Given the description of an element on the screen output the (x, y) to click on. 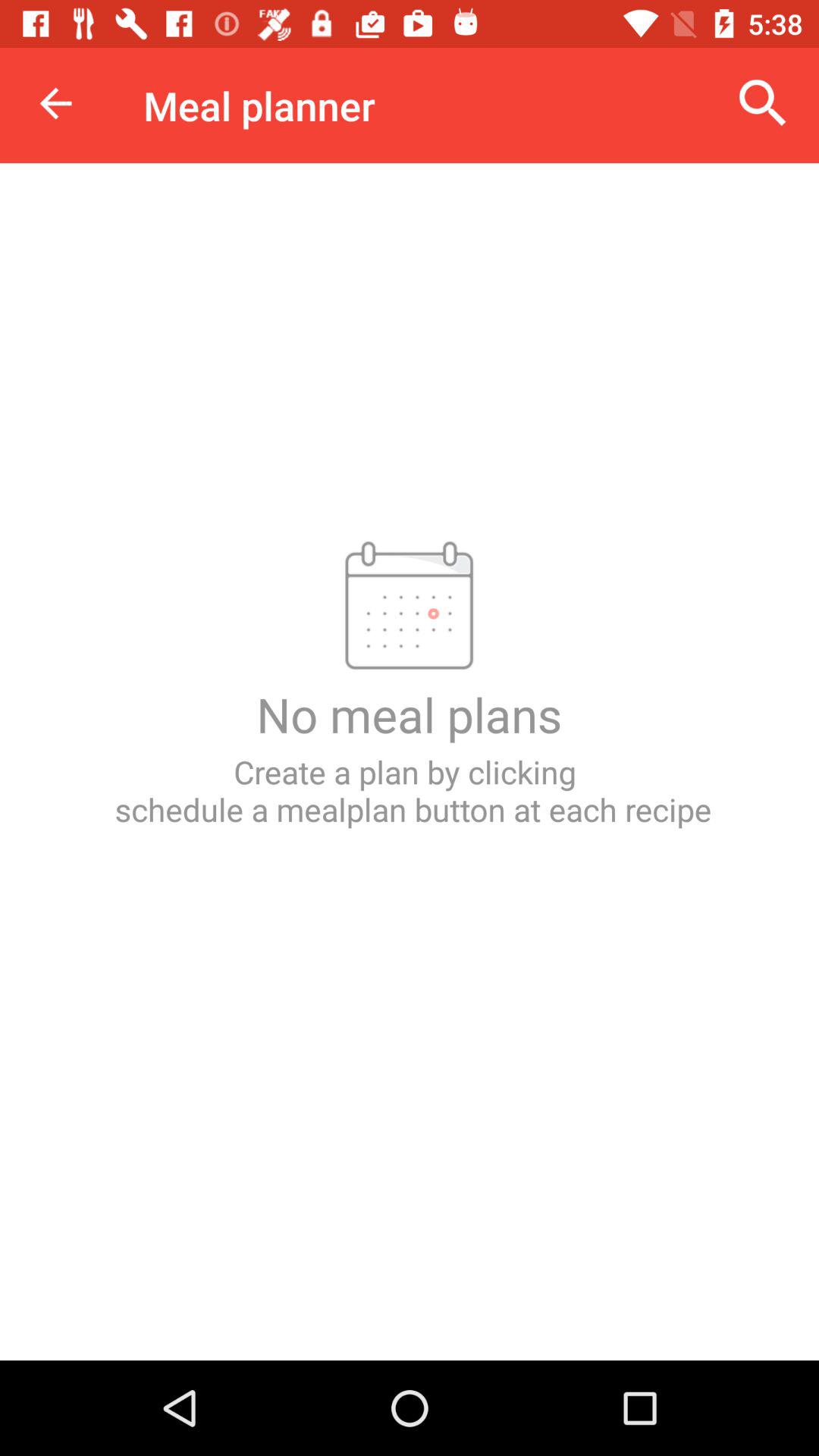
choose icon to the right of meal planner icon (763, 103)
